Given the description of an element on the screen output the (x, y) to click on. 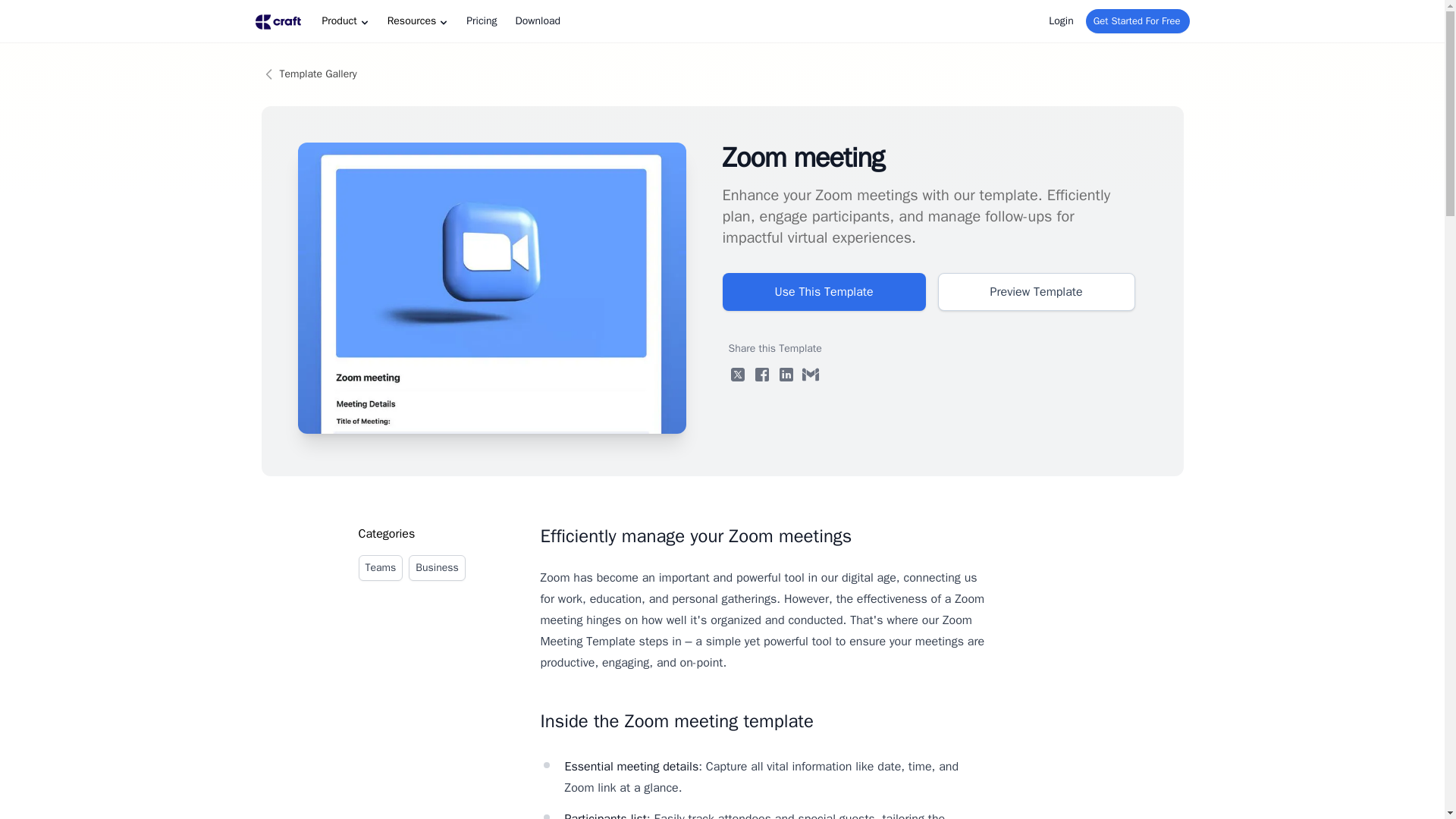
Preview Template (1036, 291)
Download (536, 21)
Resources (416, 21)
Template Gallery (721, 73)
Get Started For Free (1137, 21)
Product (343, 21)
Pricing (479, 21)
Teams (380, 567)
Business (436, 567)
Login (1057, 20)
Use This Template (823, 291)
